Given the description of an element on the screen output the (x, y) to click on. 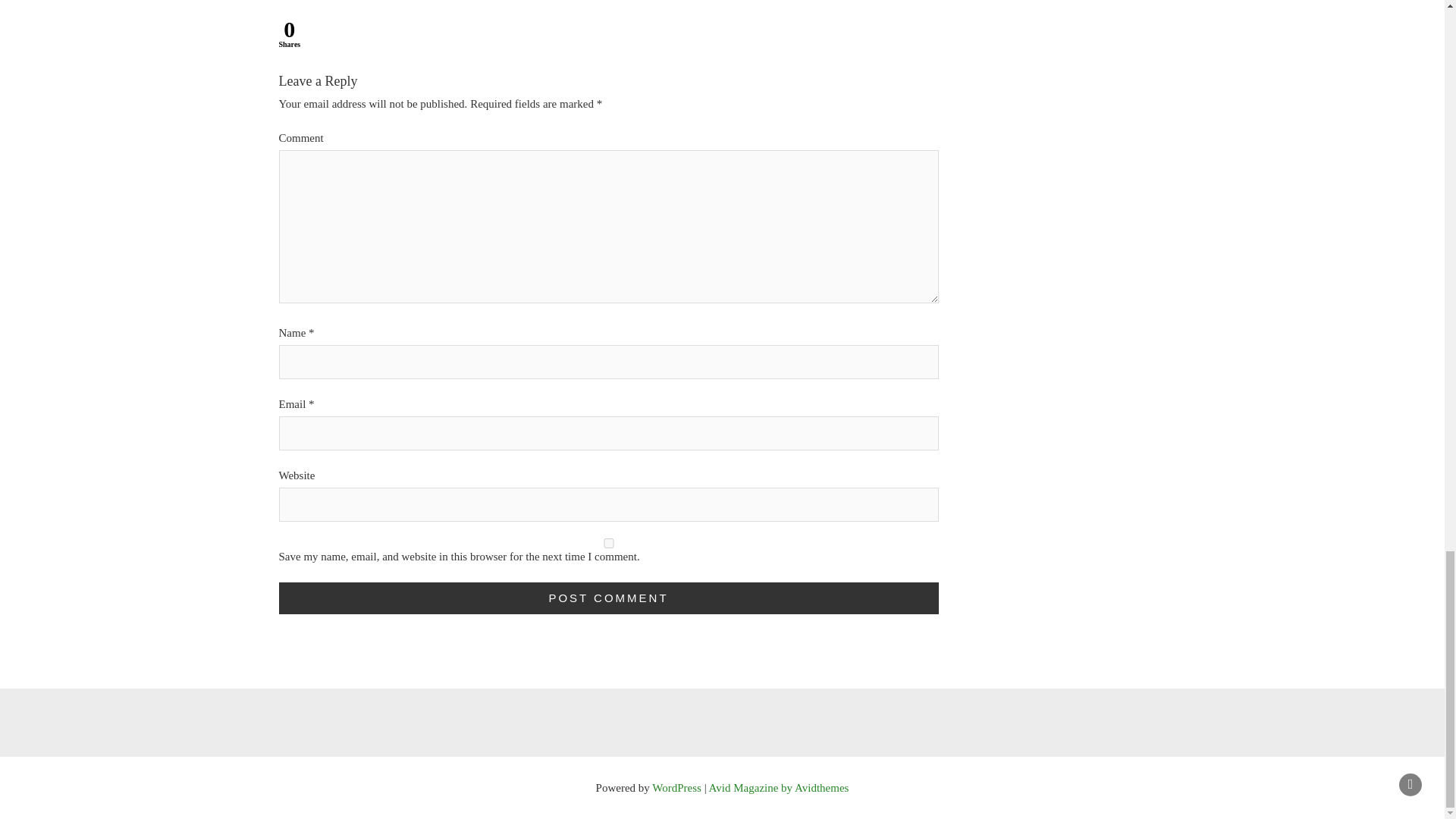
Post Comment (609, 598)
yes (609, 542)
